Given the description of an element on the screen output the (x, y) to click on. 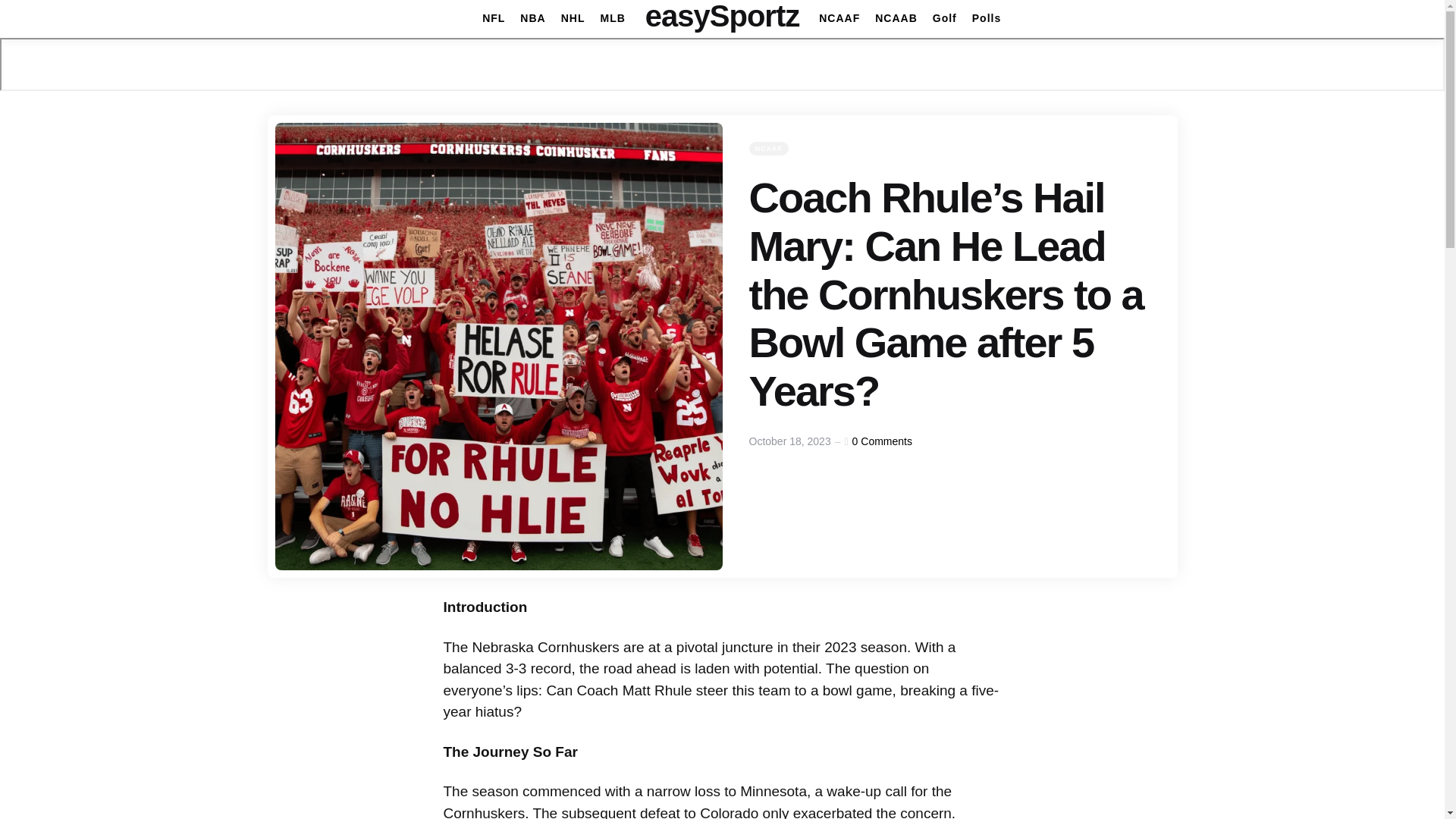
NCAAF (769, 148)
NCAAF (839, 18)
NHL (572, 18)
MLB (611, 18)
NBA (531, 18)
easySportz (722, 15)
Polls (986, 18)
0 Comments (881, 440)
NCAAB (896, 18)
Golf (944, 18)
NFL (493, 18)
